Given the description of an element on the screen output the (x, y) to click on. 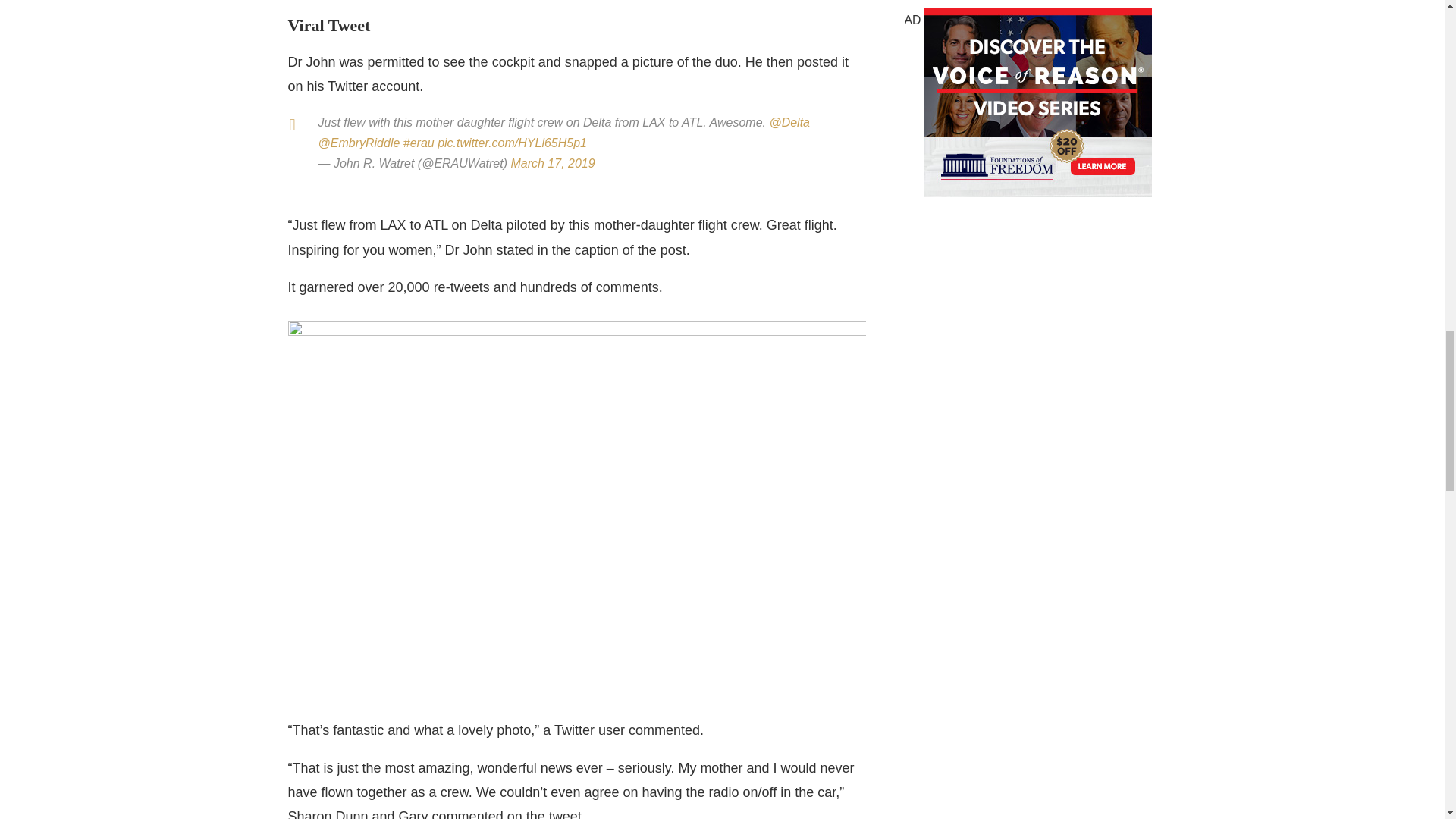
March 17, 2019 (552, 163)
